Given the description of an element on the screen output the (x, y) to click on. 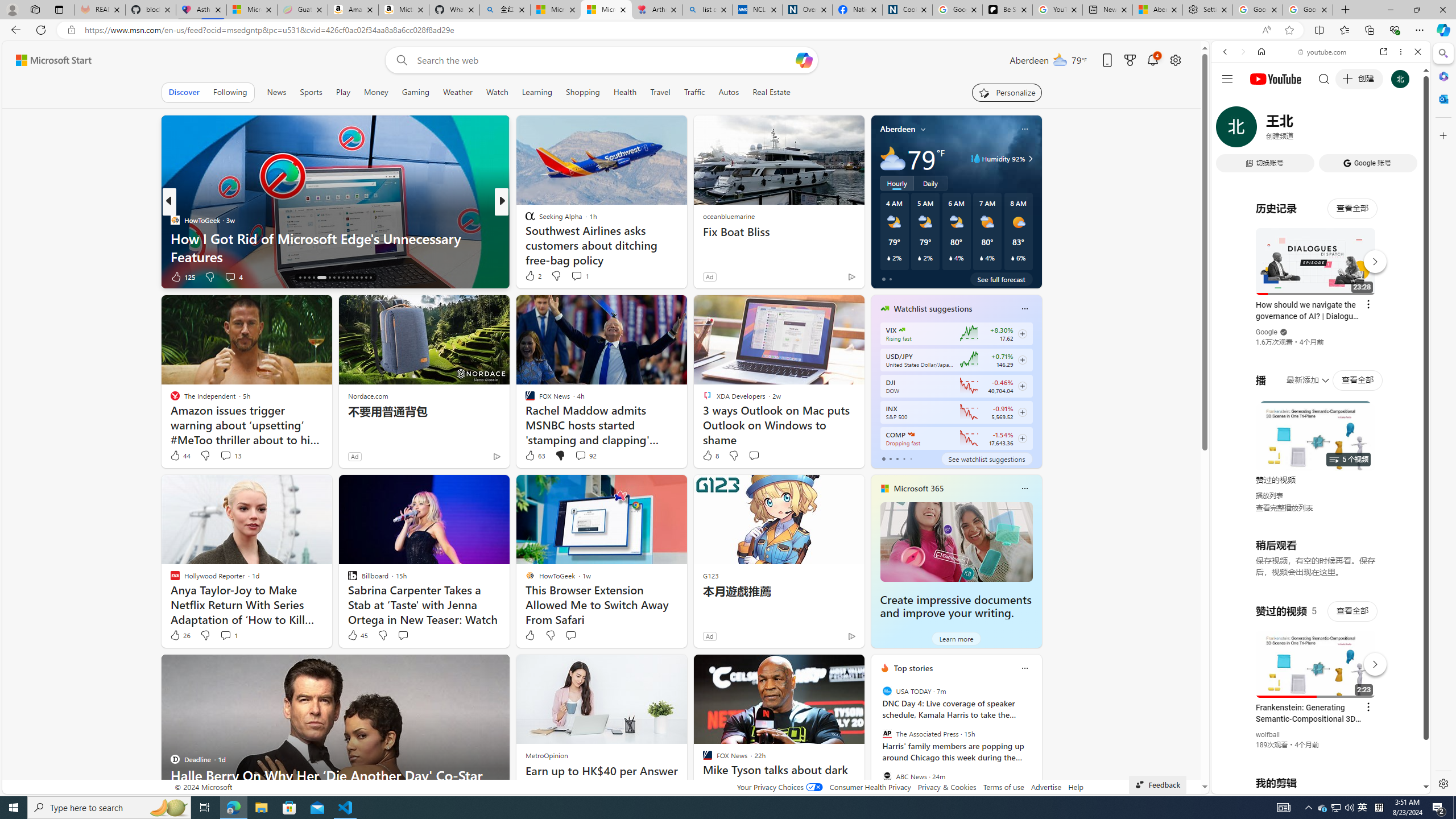
AutomationID: tab-23 (338, 277)
Create impressive documents and improve your writing. (955, 541)
Hide this story (830, 668)
Business Insider (524, 219)
45 Like (357, 634)
tab-3 (903, 458)
youtube.com (1322, 51)
